Given the description of an element on the screen output the (x, y) to click on. 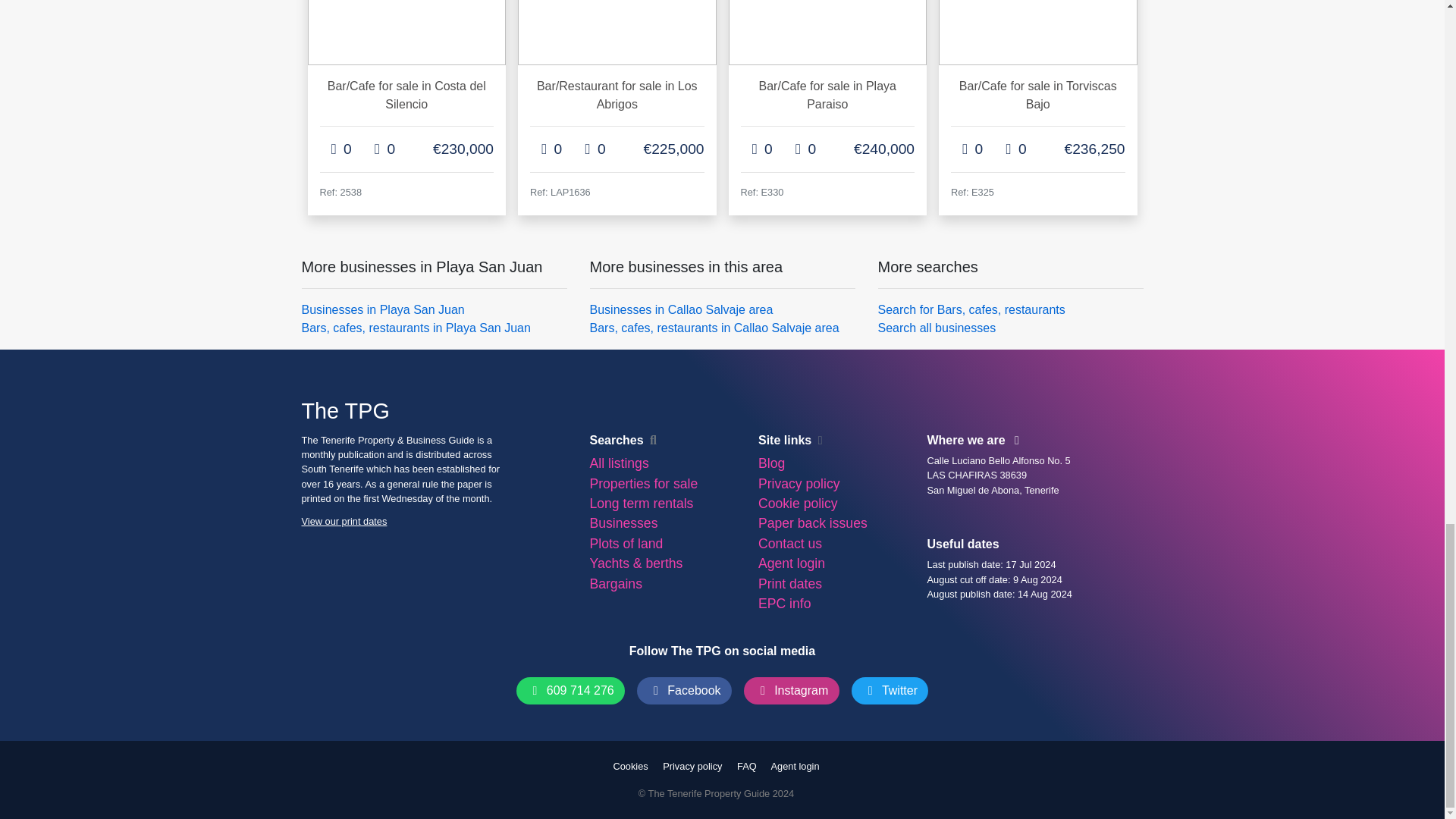
Search for Bars, cafes, restaurants (971, 308)
Bars, cafes, restaurants in Playa San Juan (416, 327)
Bars, cafes, restaurants in Callao Salvaje area (714, 327)
View our print dates (344, 521)
All listings (618, 462)
Businesses in Playa San Juan (382, 308)
Businesses in Callao Salvaje area (681, 308)
Properties for sale (643, 483)
Search all businesses (936, 327)
